Given the description of an element on the screen output the (x, y) to click on. 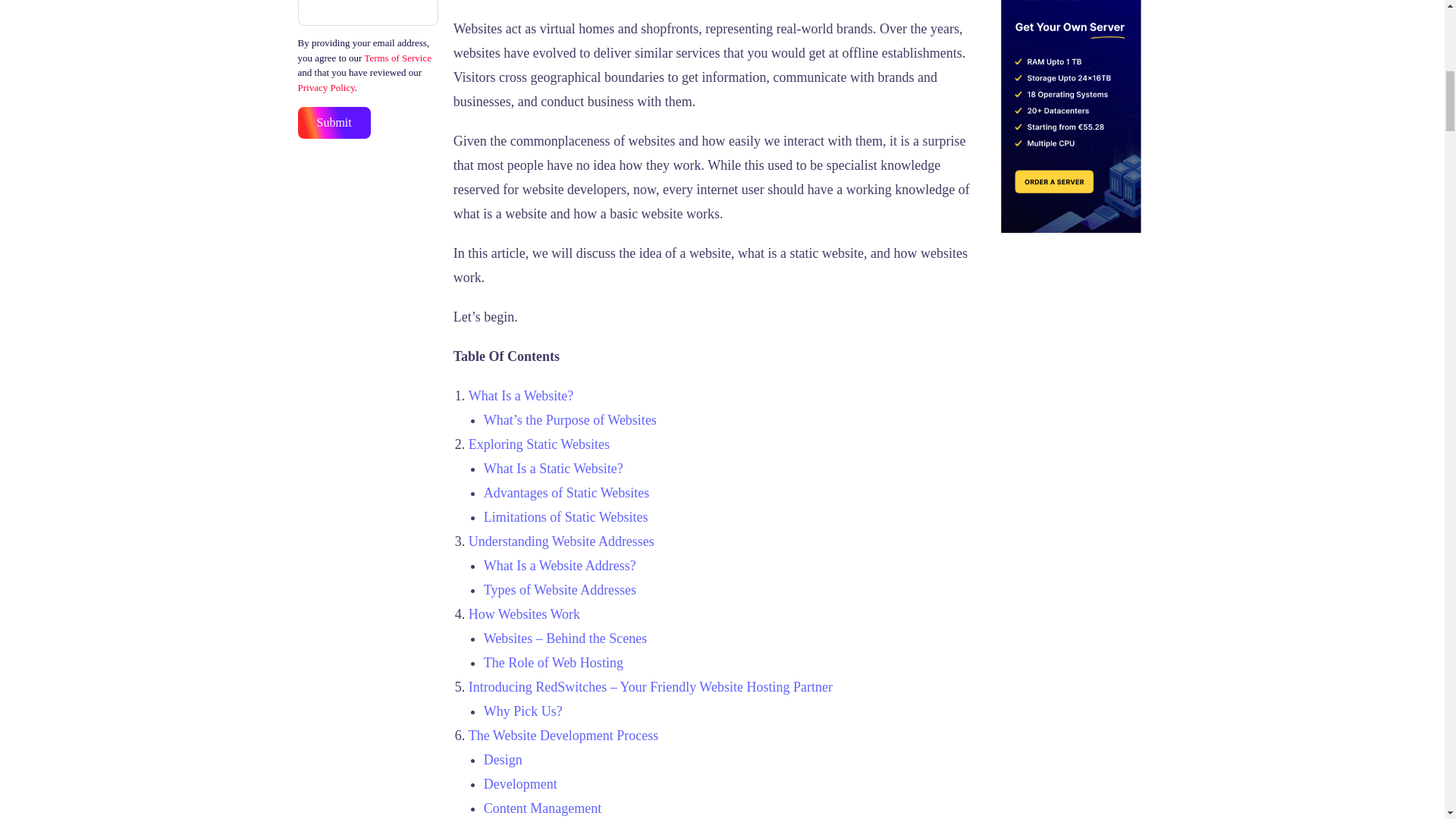
Submit (333, 122)
